Given the description of an element on the screen output the (x, y) to click on. 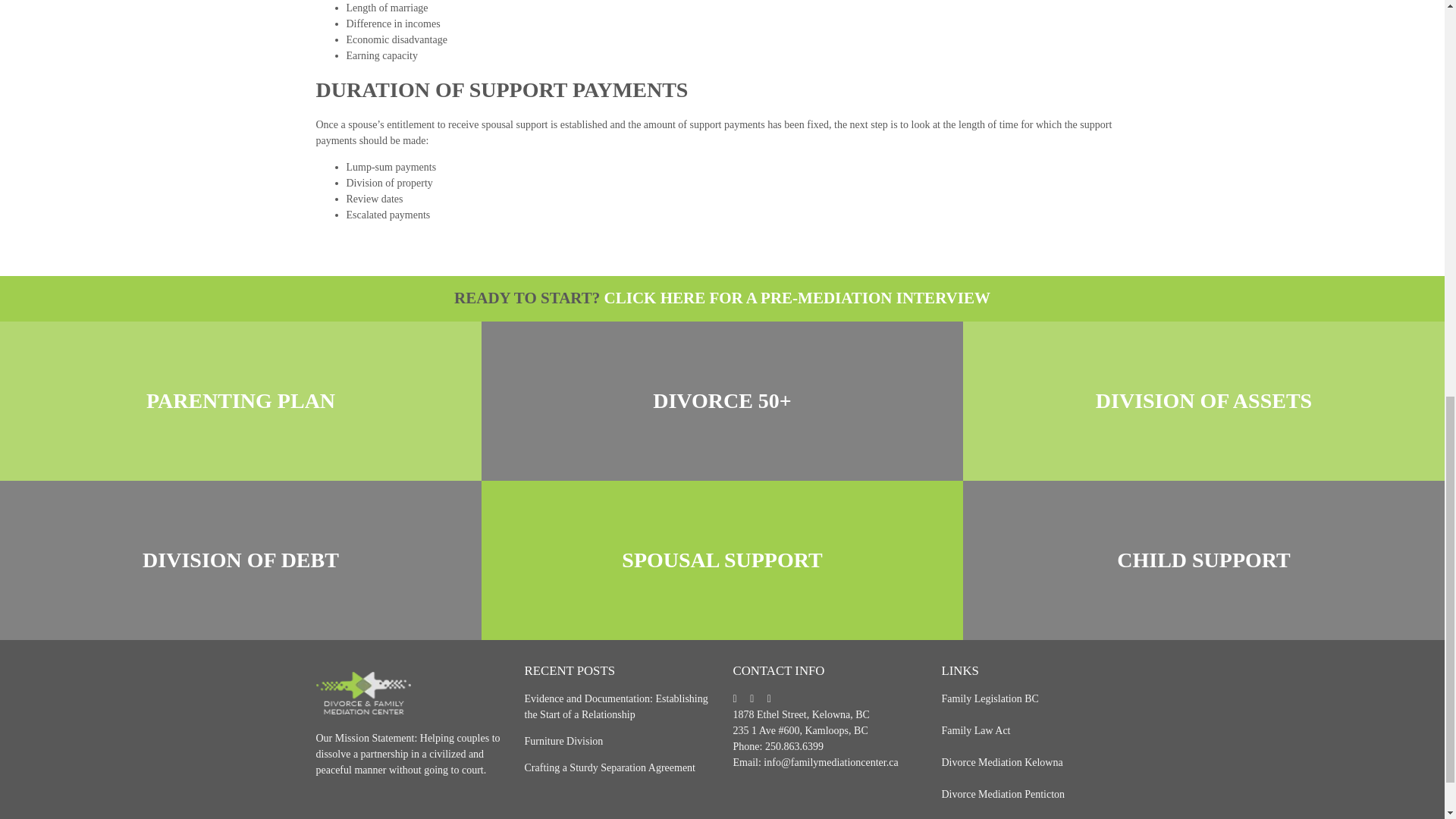
CHILD SUPPORT (1203, 560)
PARENTING PLAN (240, 400)
Family Mediation Center logo (362, 692)
CLICK HERE FOR A PRE-MEDIATION INTERVIEW (797, 298)
DIVISION OF ASSETS (1203, 400)
SPOUSAL SUPPORT (721, 560)
DIVISION OF DEBT (240, 560)
